Given the description of an element on the screen output the (x, y) to click on. 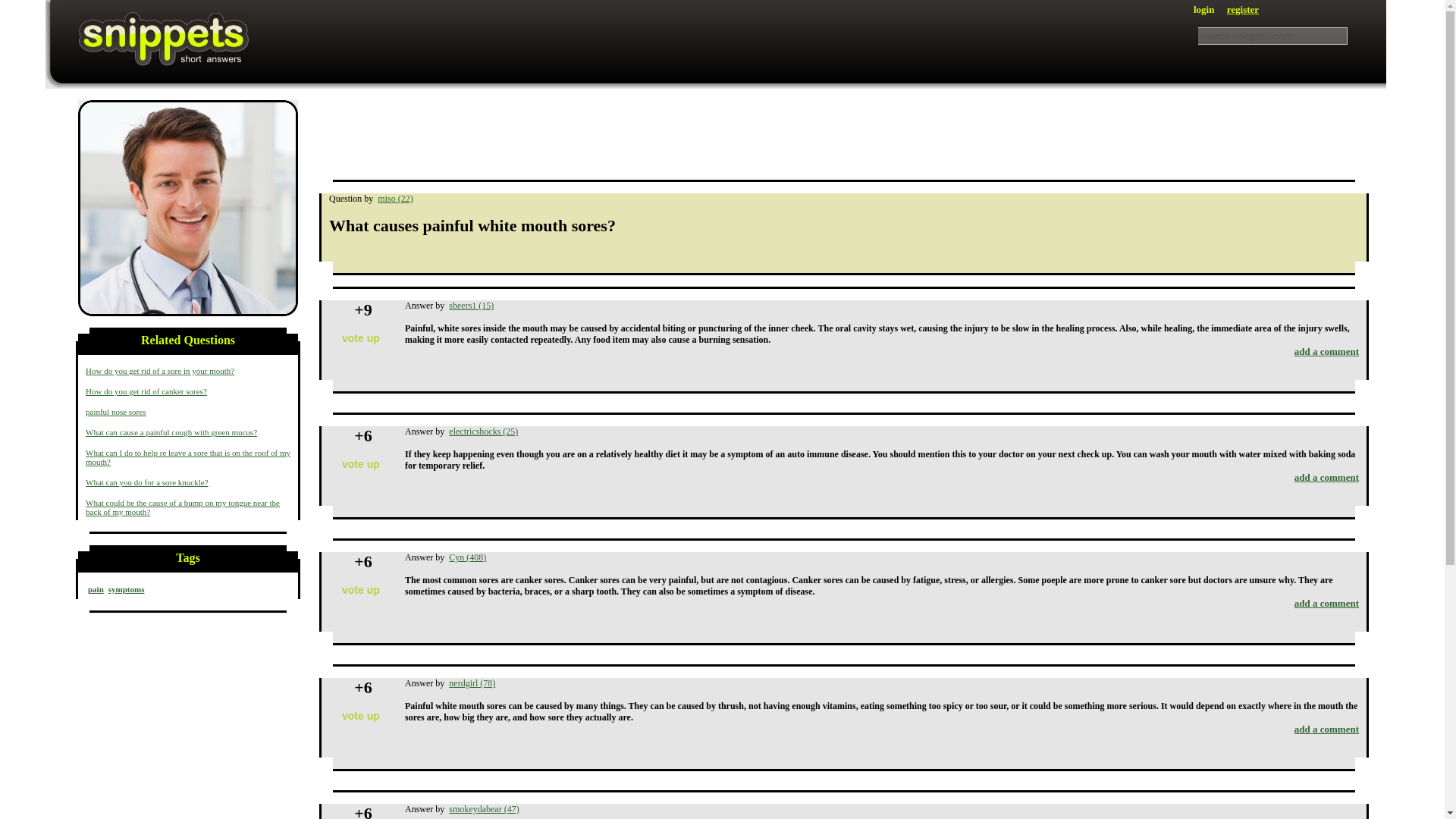
symptoms (188, 207)
Tags (187, 561)
painful nose sores (115, 411)
register (1243, 9)
How do you get rid of canker sores? (145, 390)
add a comment (1326, 728)
symptoms (125, 588)
add a comment (1326, 603)
search snippets.com (1273, 36)
